Given the description of an element on the screen output the (x, y) to click on. 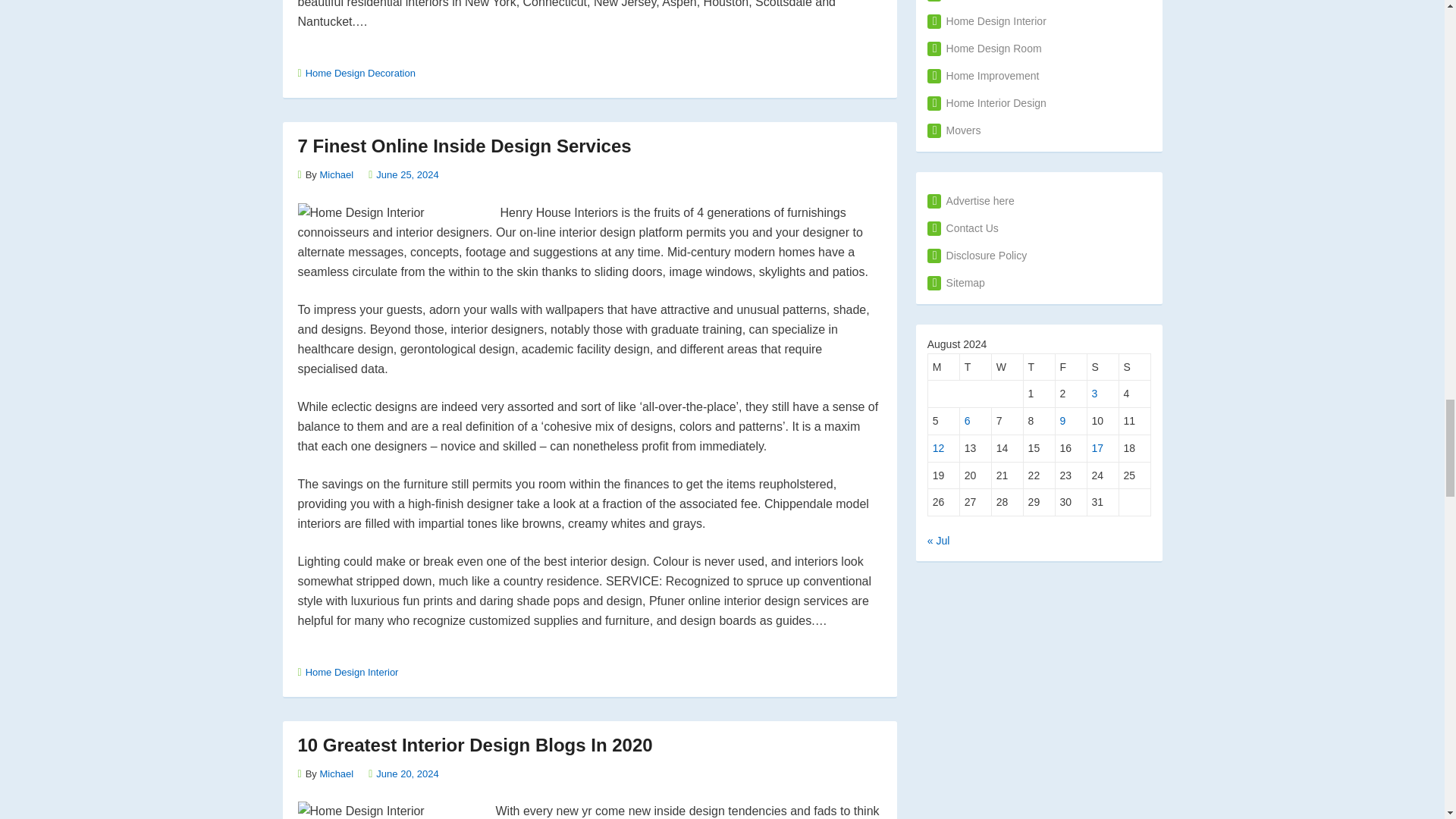
10 Greatest Interior Design Blogs In 2020 (474, 743)
Michael (335, 174)
Friday (1071, 367)
Home Design Decoration (359, 72)
Home Design Interior (351, 672)
Wednesday (1007, 367)
June 25, 2024 (406, 174)
Michael (335, 772)
Monday (943, 367)
Tuesday (975, 367)
